Given the description of an element on the screen output the (x, y) to click on. 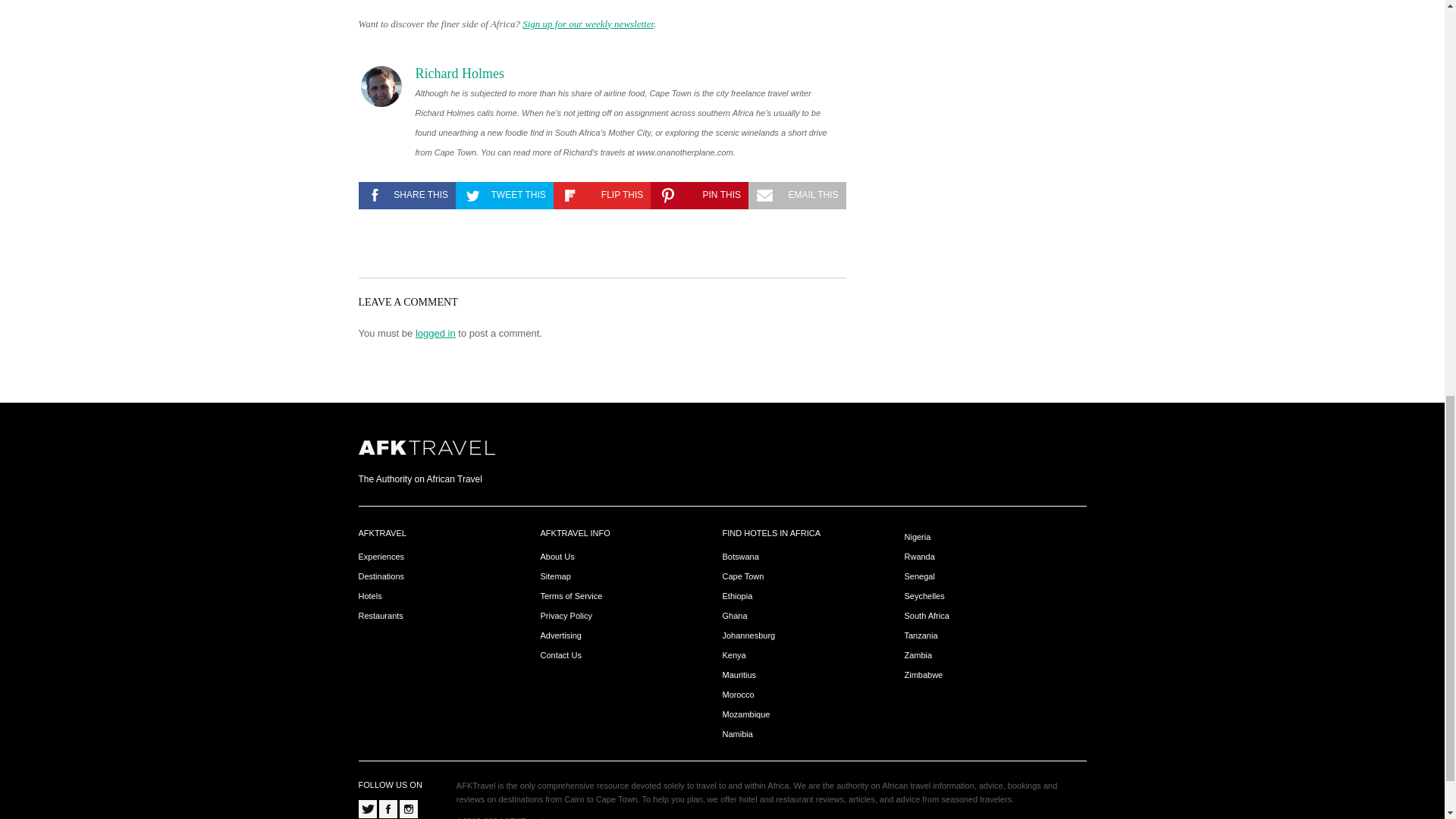
logged in (434, 333)
Restaurants (380, 615)
Experiences (381, 556)
Destinations (381, 576)
Richard Holmes (458, 73)
Sign up for our weekly newsletter (587, 23)
Hotels (369, 596)
